Given the description of an element on the screen output the (x, y) to click on. 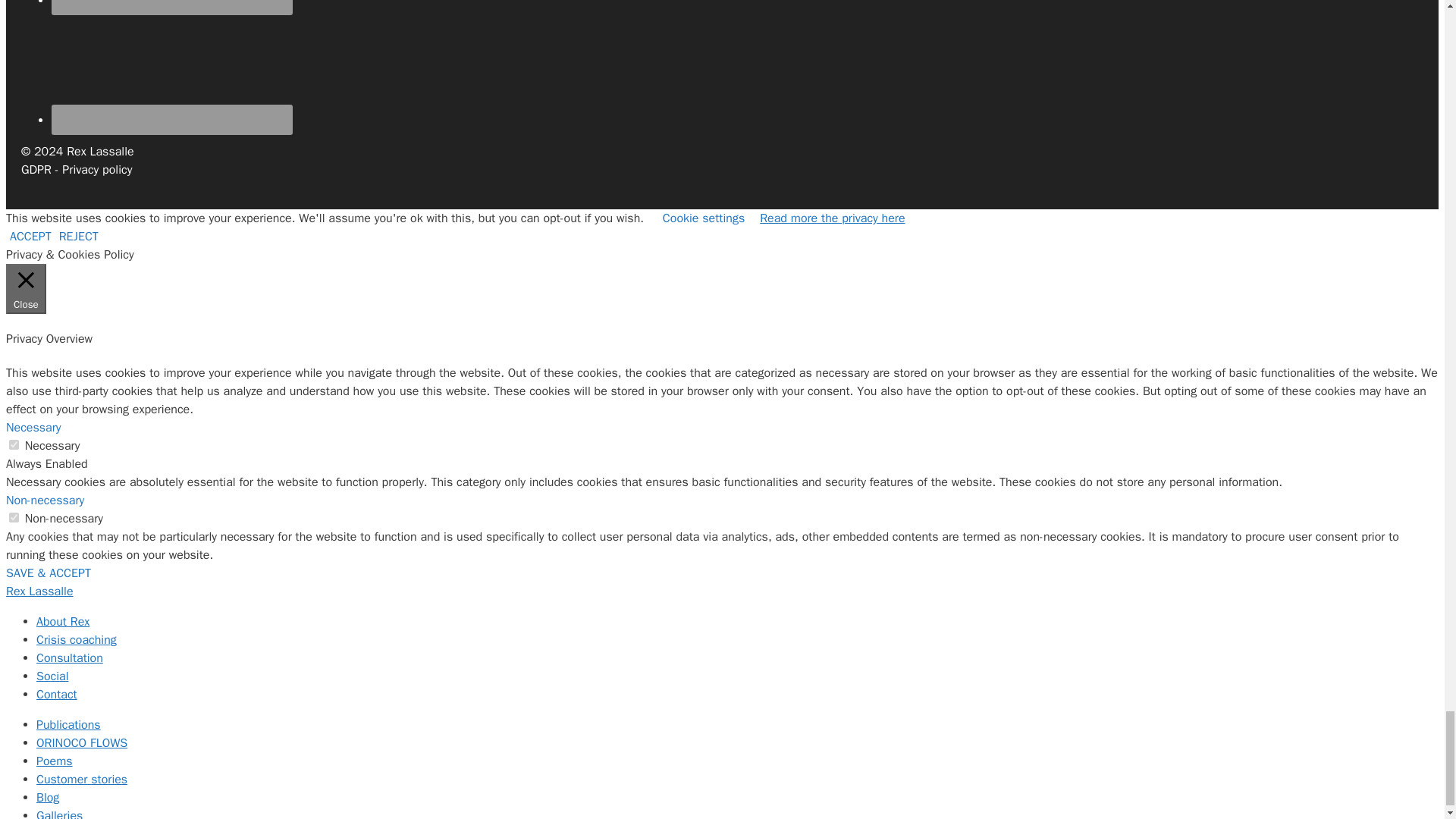
YouTube (171, 67)
LinkedIn (171, 2)
on (13, 444)
on (13, 517)
